Given the description of an element on the screen output the (x, y) to click on. 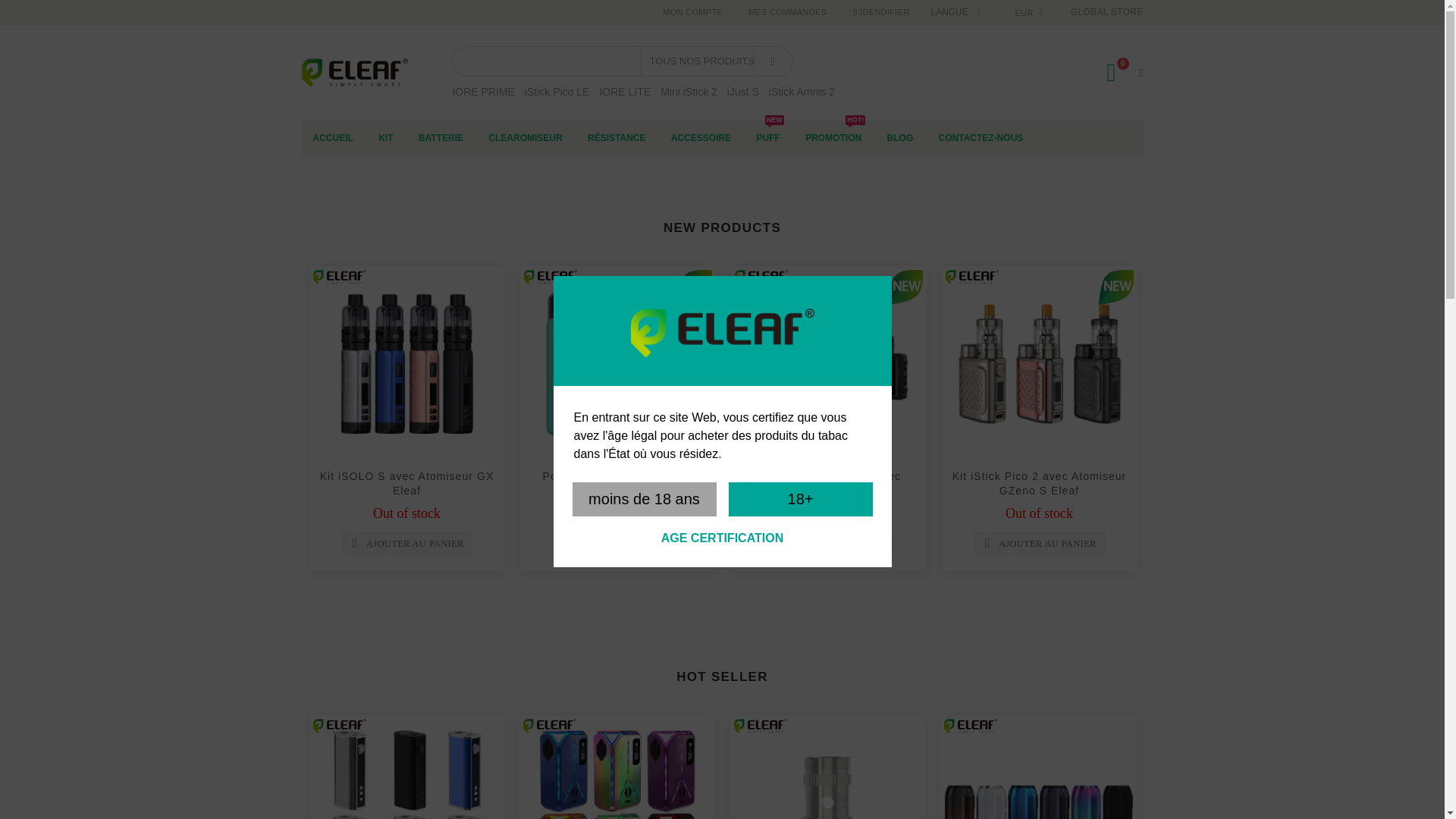
iStick Amnis 2 (801, 91)
KIT (385, 138)
Pod Kit IORE LITE 350mAh Eleaf (617, 363)
Batterie iStick TC 40W 2600mAh Eleaf (406, 766)
ACCESSOIRE (700, 138)
CLEAROMISEUR (525, 138)
GLOBAL STORE (1106, 11)
MES COMMANDES (787, 12)
MON COMPTE (692, 12)
Mon Compte (692, 12)
ACCUEIL (832, 138)
CONTACTEZ-NOUS (333, 138)
Kit iSOLO S avec Atomiseur GX Eleaf (981, 138)
iStick Pico LE (407, 483)
